Given the description of an element on the screen output the (x, y) to click on. 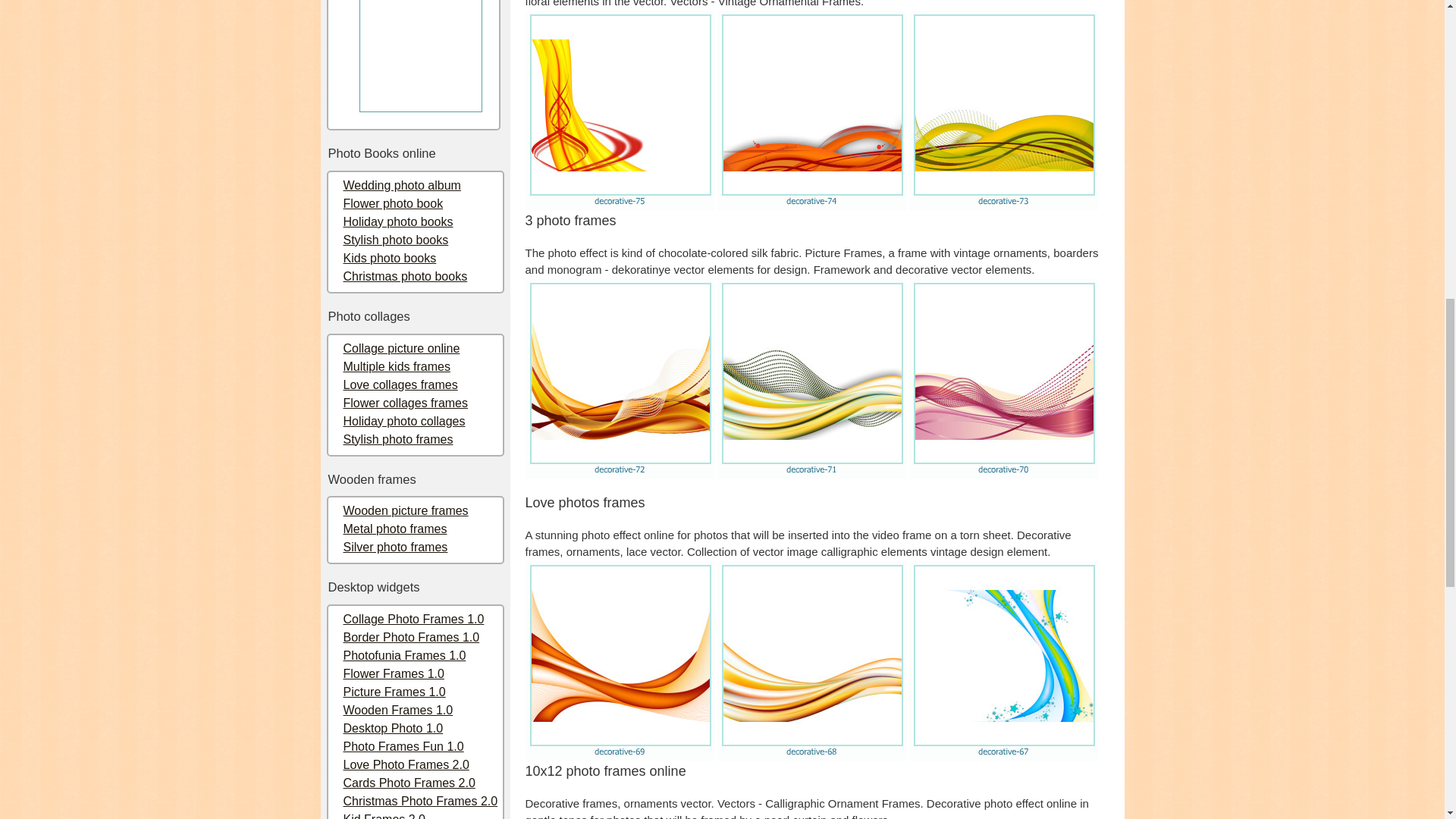
Stylish photo frames (397, 438)
Love collages frames (399, 383)
Silver photo frames (394, 546)
Stylish photo books (395, 239)
Multiple kids frames (395, 365)
Holiday photo collages (403, 420)
Flower photo book (392, 203)
Holiday photo books (397, 221)
Christmas photo books (404, 276)
Kids photo books (388, 257)
Metal photo frames (394, 528)
Wedding photo album (401, 185)
Wooden picture frames (404, 510)
Collage Photo Frames 1.0 (412, 618)
Flower collages frames (404, 401)
